Given the description of an element on the screen output the (x, y) to click on. 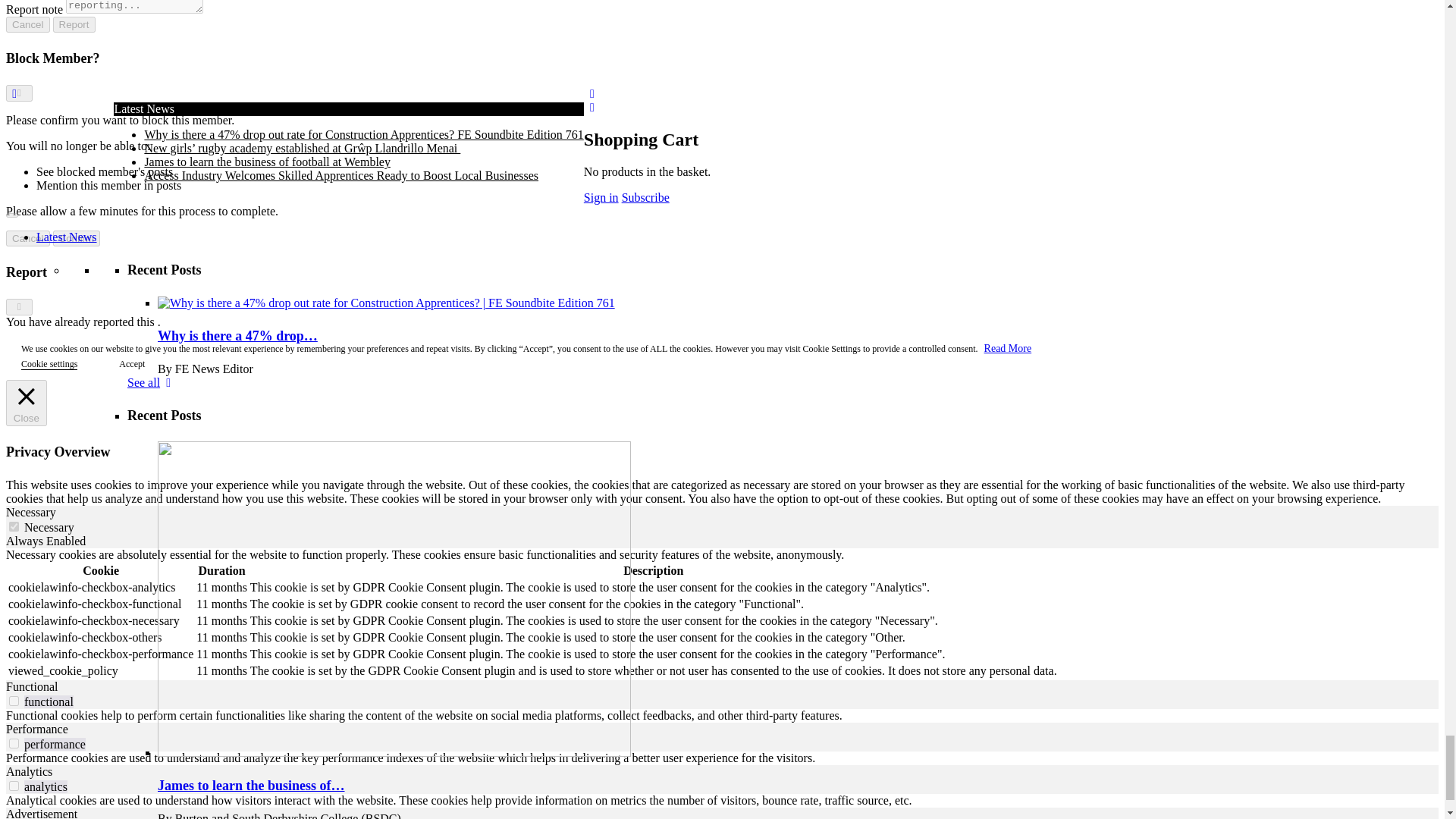
on (13, 743)
Cancel (27, 24)
Cancel (27, 238)
on (13, 786)
on (13, 700)
on (13, 526)
